Given the description of an element on the screen output the (x, y) to click on. 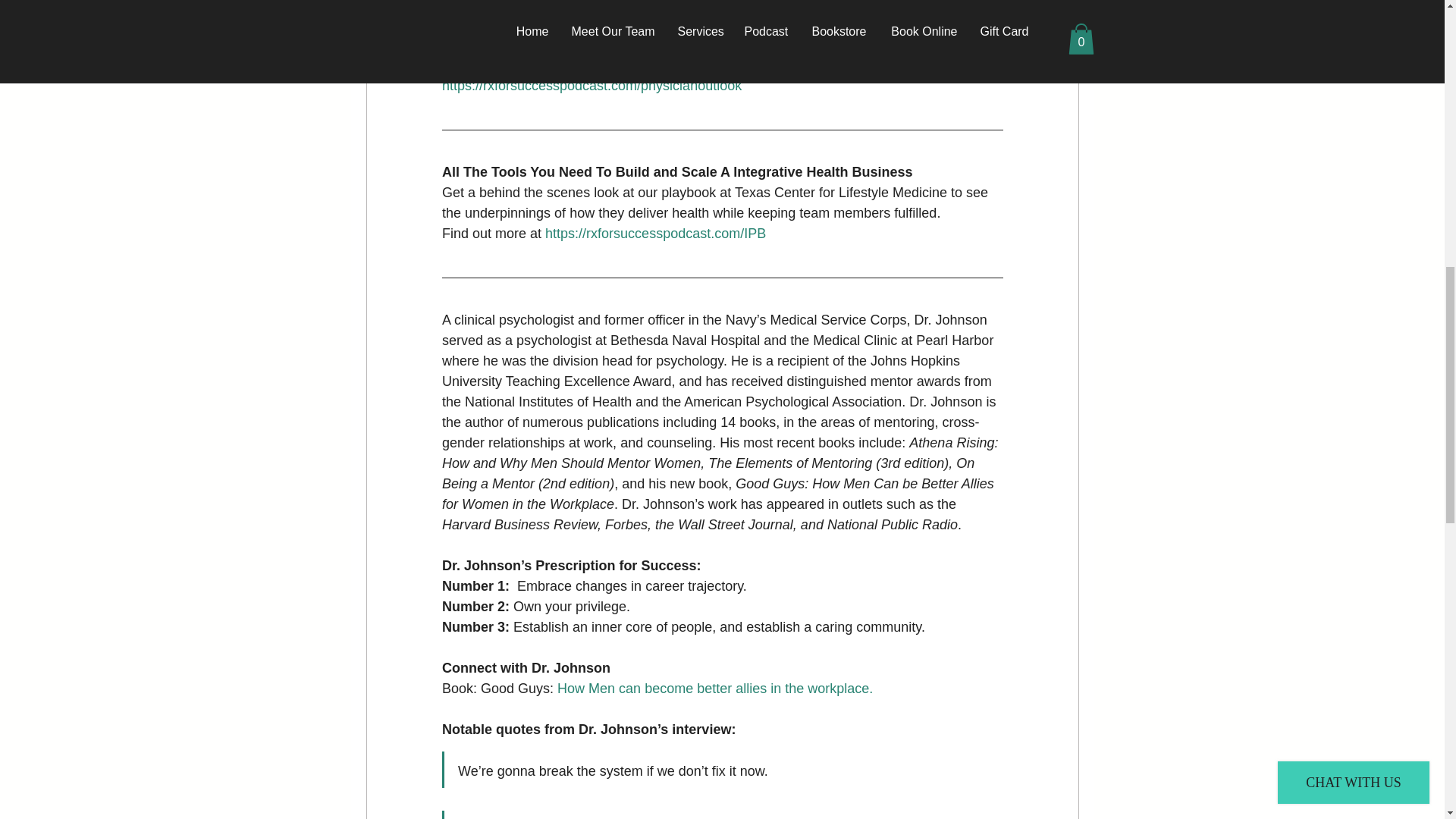
How Men can become better allies in the workplace. (714, 688)
